Given the description of an element on the screen output the (x, y) to click on. 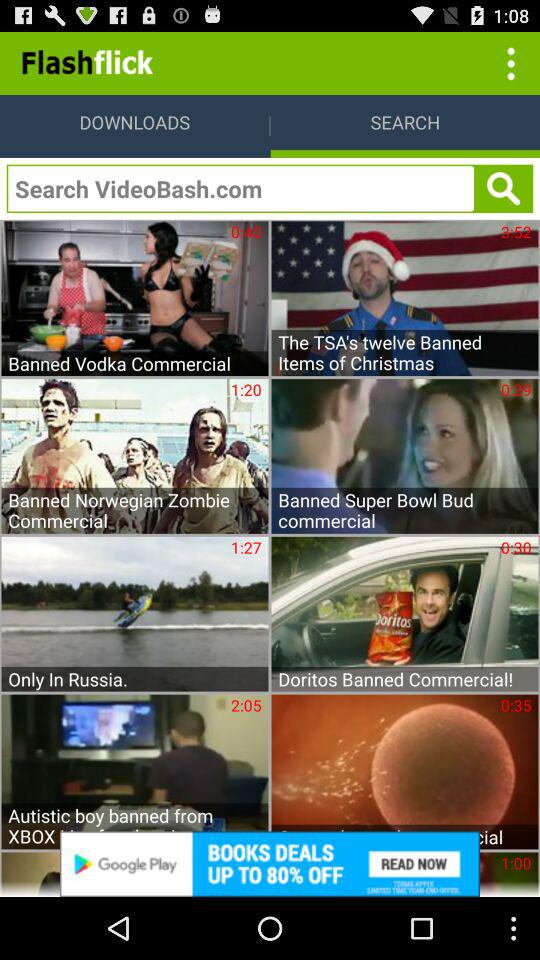
search (240, 188)
